Given the description of an element on the screen output the (x, y) to click on. 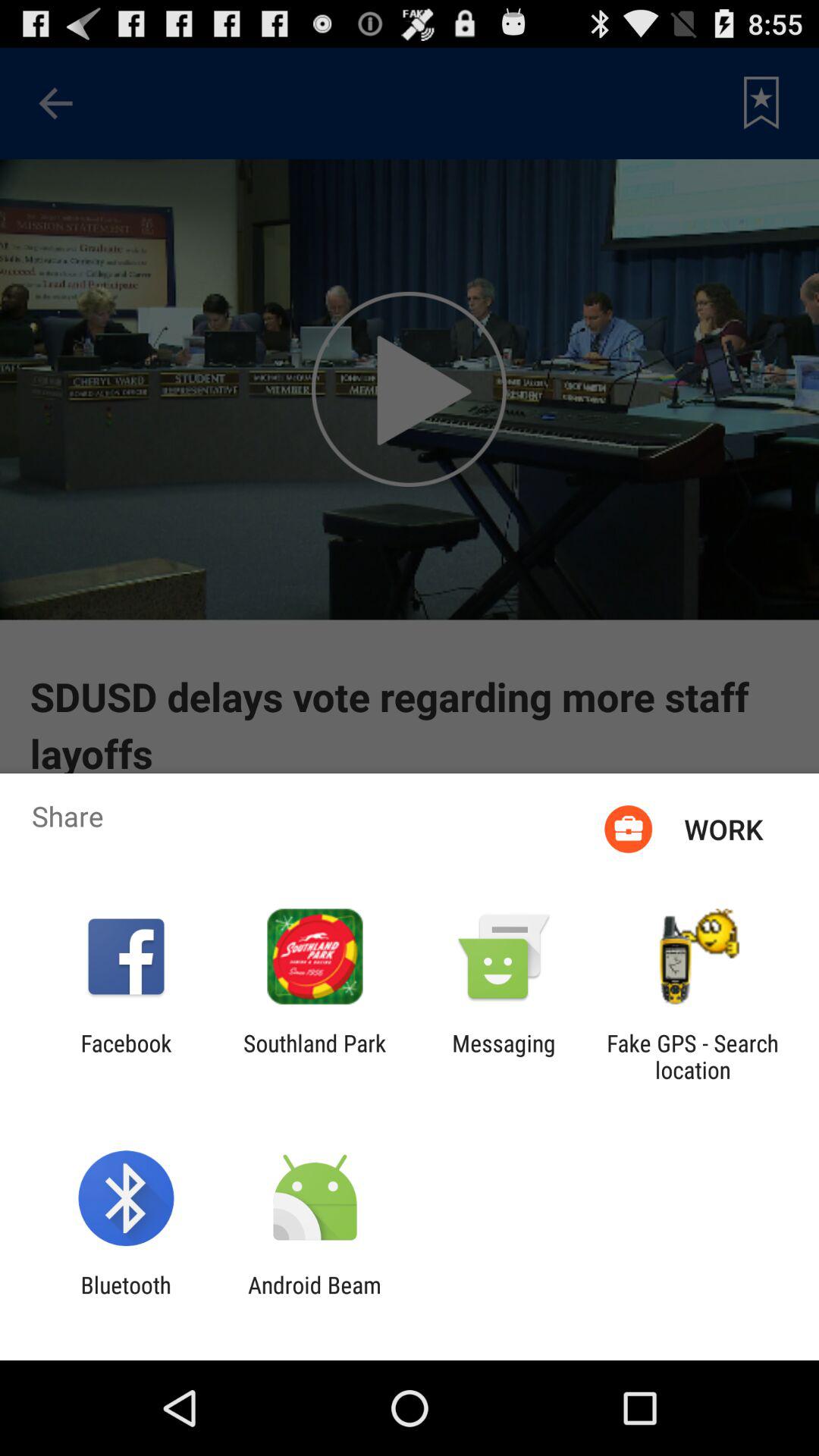
jump to facebook icon (125, 1056)
